Given the description of an element on the screen output the (x, y) to click on. 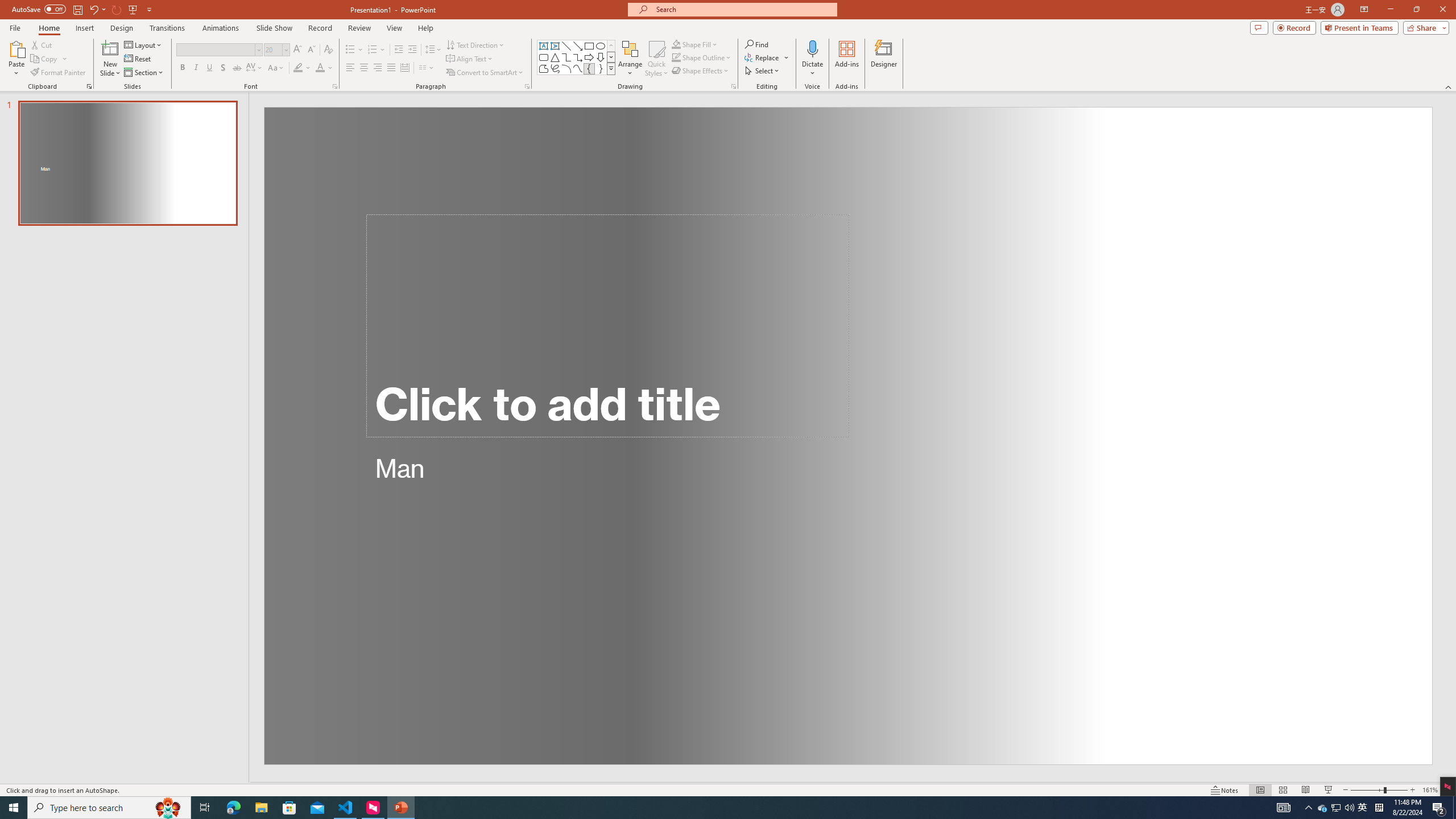
Zoom 161% (1430, 790)
